Given the description of an element on the screen output the (x, y) to click on. 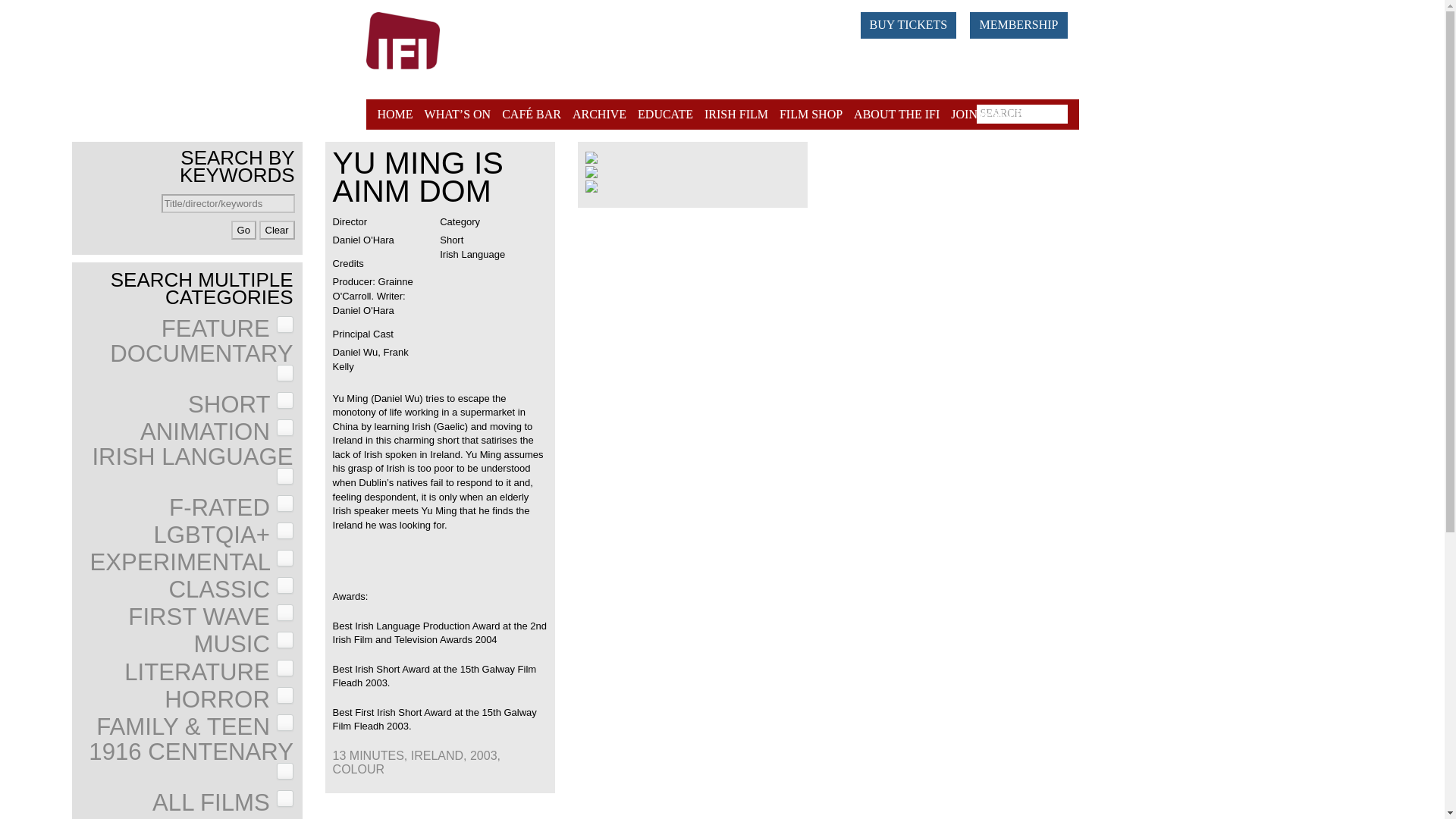
ARCHIVE (598, 114)
Go (243, 229)
BUY TICKETS (908, 25)
BUY TICKETS (915, 23)
HOME (398, 114)
MEMBERSHIP (1018, 25)
Go (243, 229)
IRISH FILM INSTITUTE LOGO (430, 49)
Clear (277, 229)
MEMBERSHIP (1023, 23)
